Given the description of an element on the screen output the (x, y) to click on. 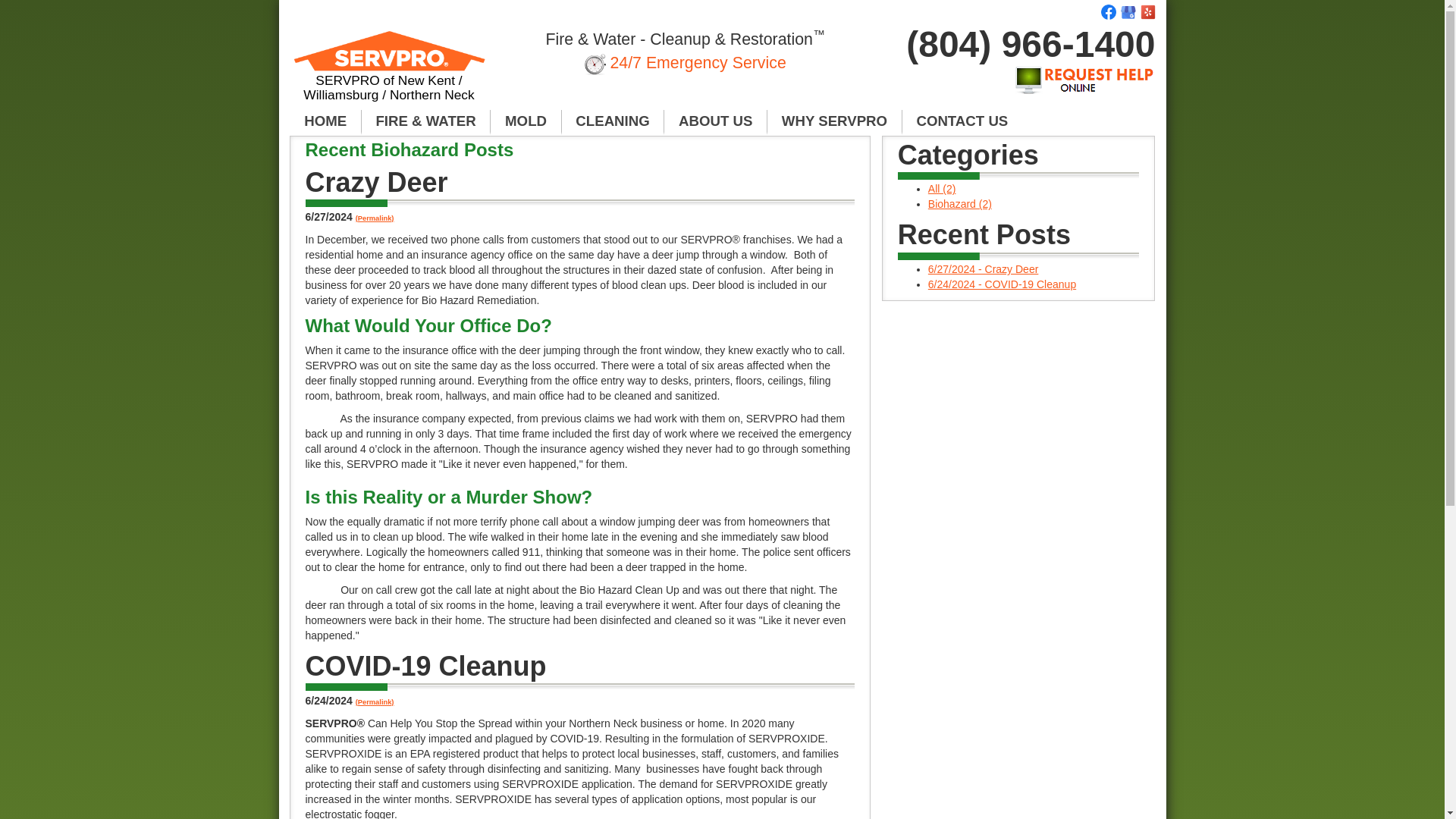
HOME (325, 121)
CLEANING (613, 121)
ABOUT US (715, 121)
MOLD (525, 121)
